Given the description of an element on the screen output the (x, y) to click on. 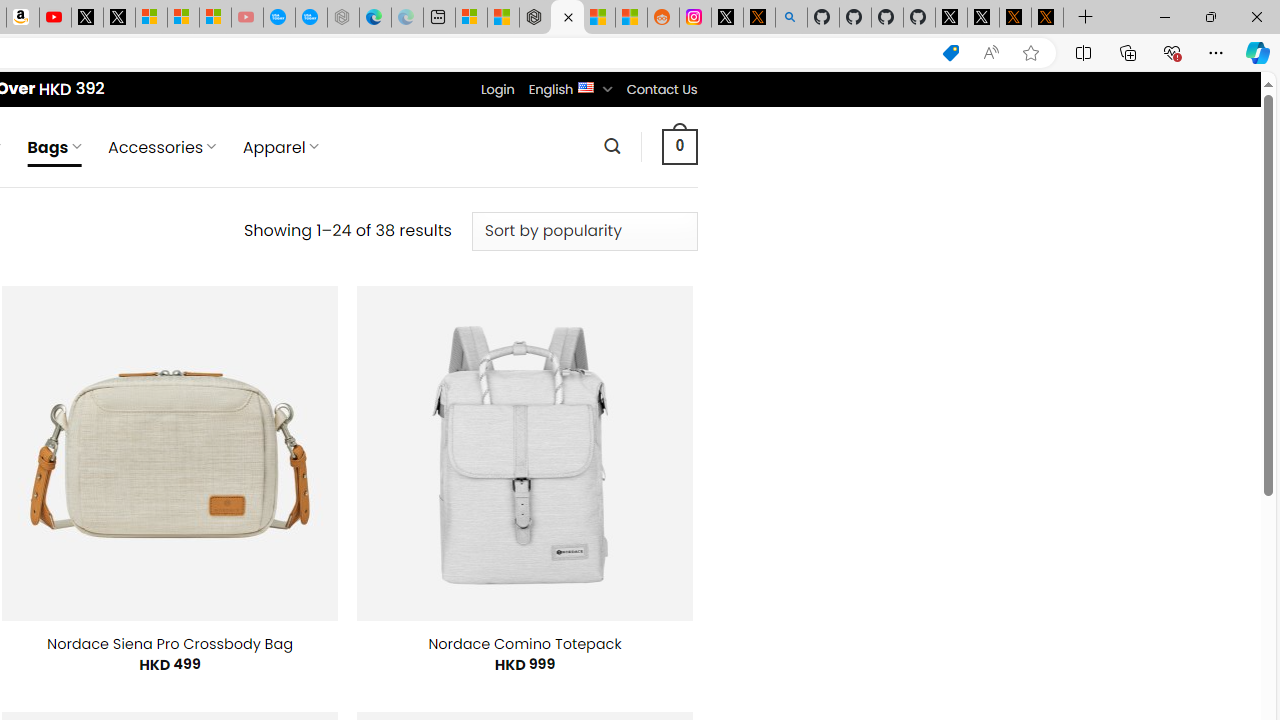
Settings and more (Alt+F) (1215, 52)
The most popular Google 'how to' searches (310, 17)
Nordace - Best Sellers (535, 17)
Add this page to favorites (Ctrl+D) (1030, 53)
Contact Us (661, 89)
Restore (1210, 16)
Microsoft account | Microsoft Account Privacy Settings (471, 17)
Nordace - Bags (566, 17)
